Given the description of an element on the screen output the (x, y) to click on. 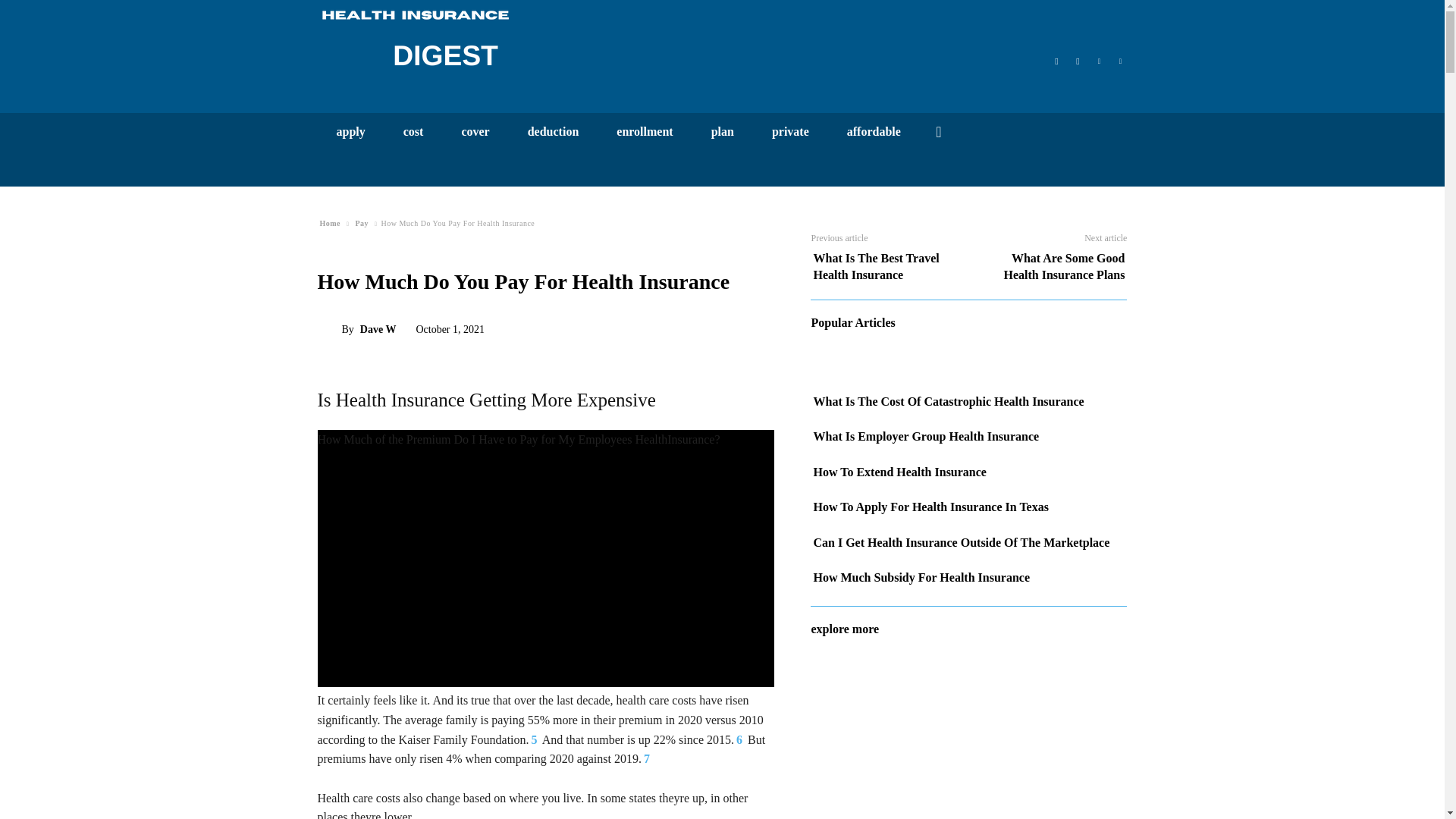
affordable (874, 131)
Twitter (1119, 59)
apply (350, 131)
private (790, 131)
deduction (553, 131)
Dave W (328, 329)
Instagram (1077, 59)
Facebook (1055, 59)
cost (413, 131)
Linkedin (1098, 59)
